Given the description of an element on the screen output the (x, y) to click on. 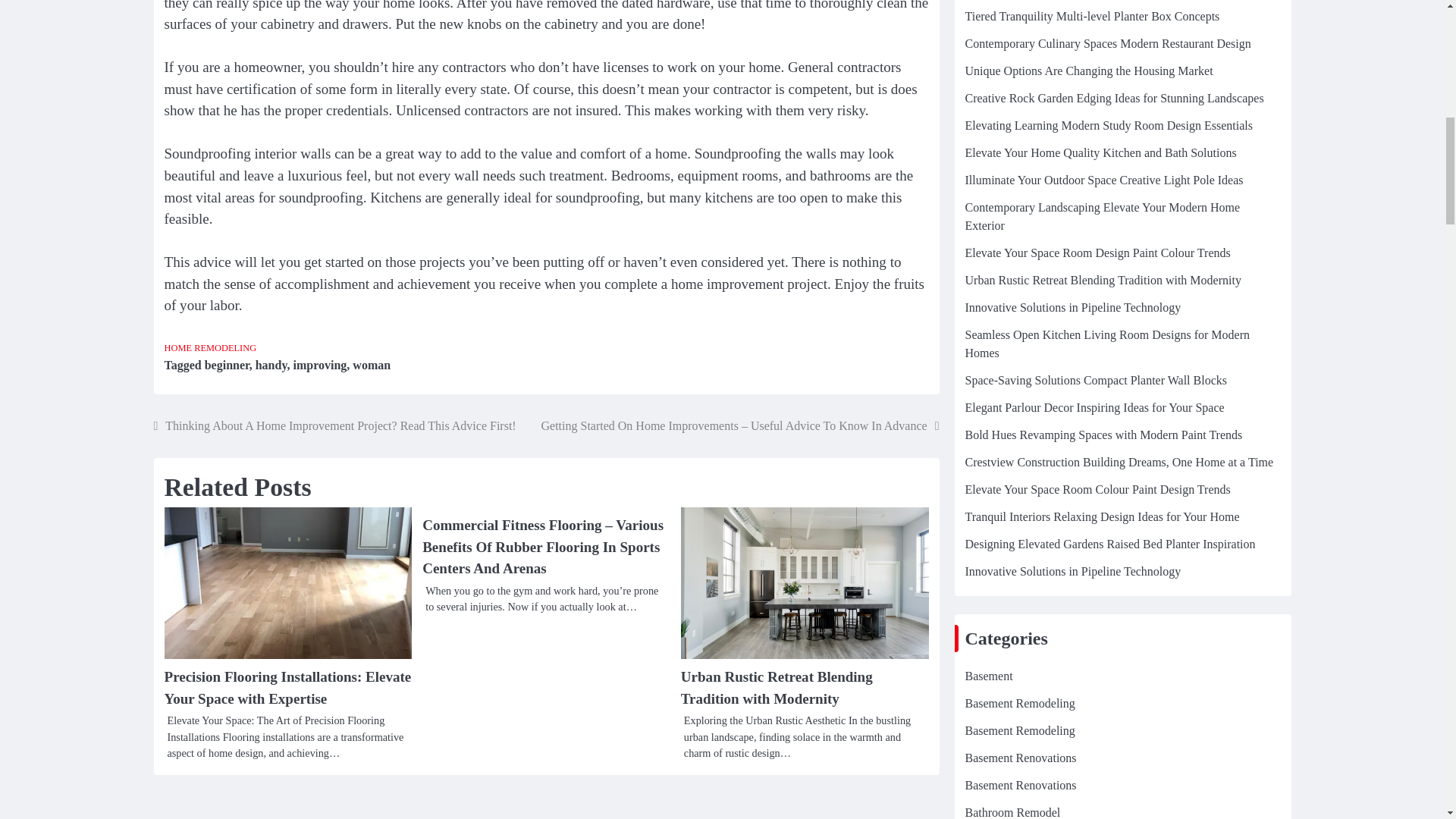
improving (319, 364)
handy (271, 364)
HOME REMODELING (209, 347)
beginner (226, 364)
